Given the description of an element on the screen output the (x, y) to click on. 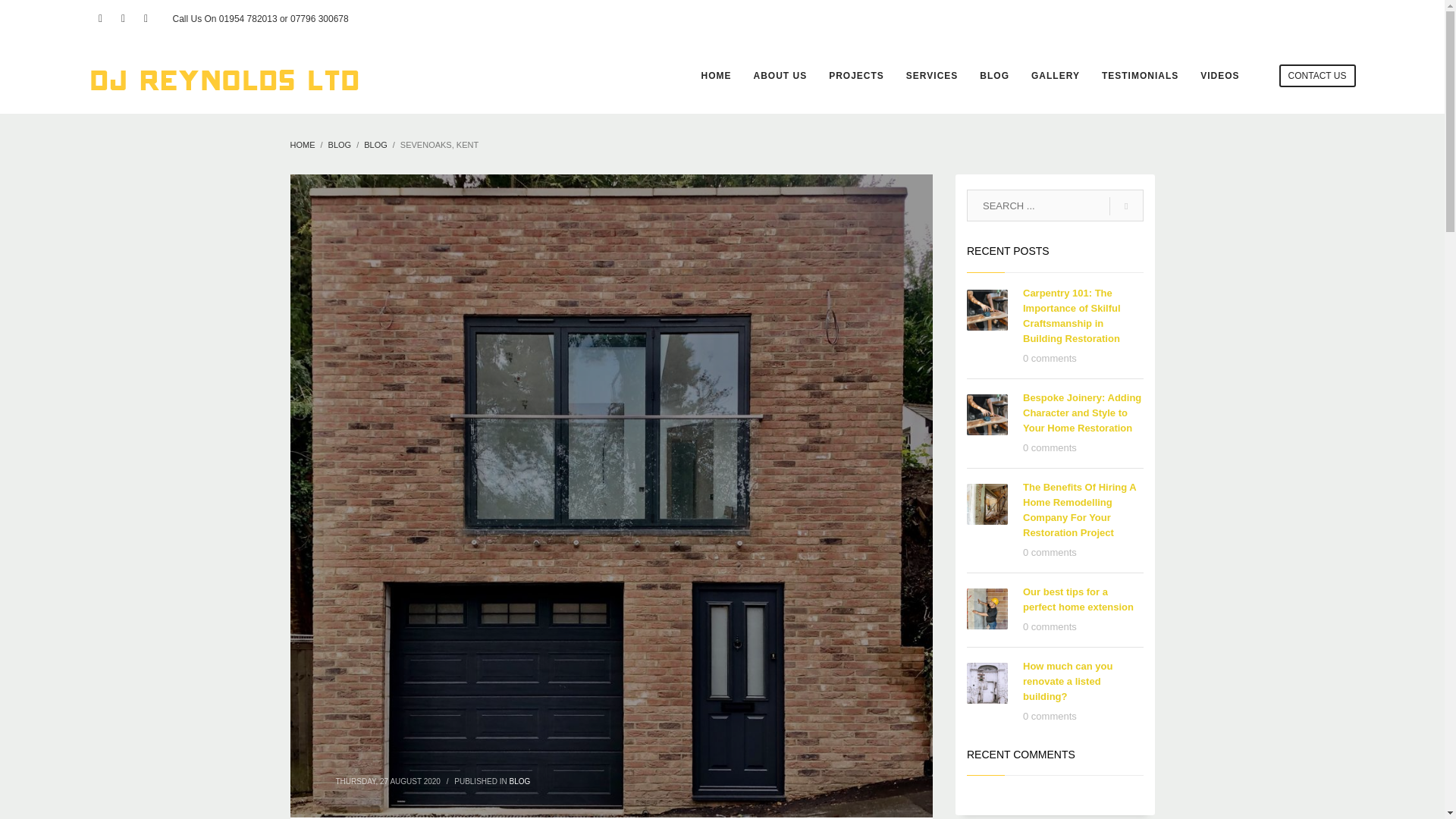
BLOG (994, 75)
HOME (715, 75)
Twitter (123, 18)
BLOG (520, 780)
Leaders In Construction (223, 76)
ABOUT US (780, 75)
CONTACT US (1317, 75)
Facebook (100, 18)
